Given the description of an element on the screen output the (x, y) to click on. 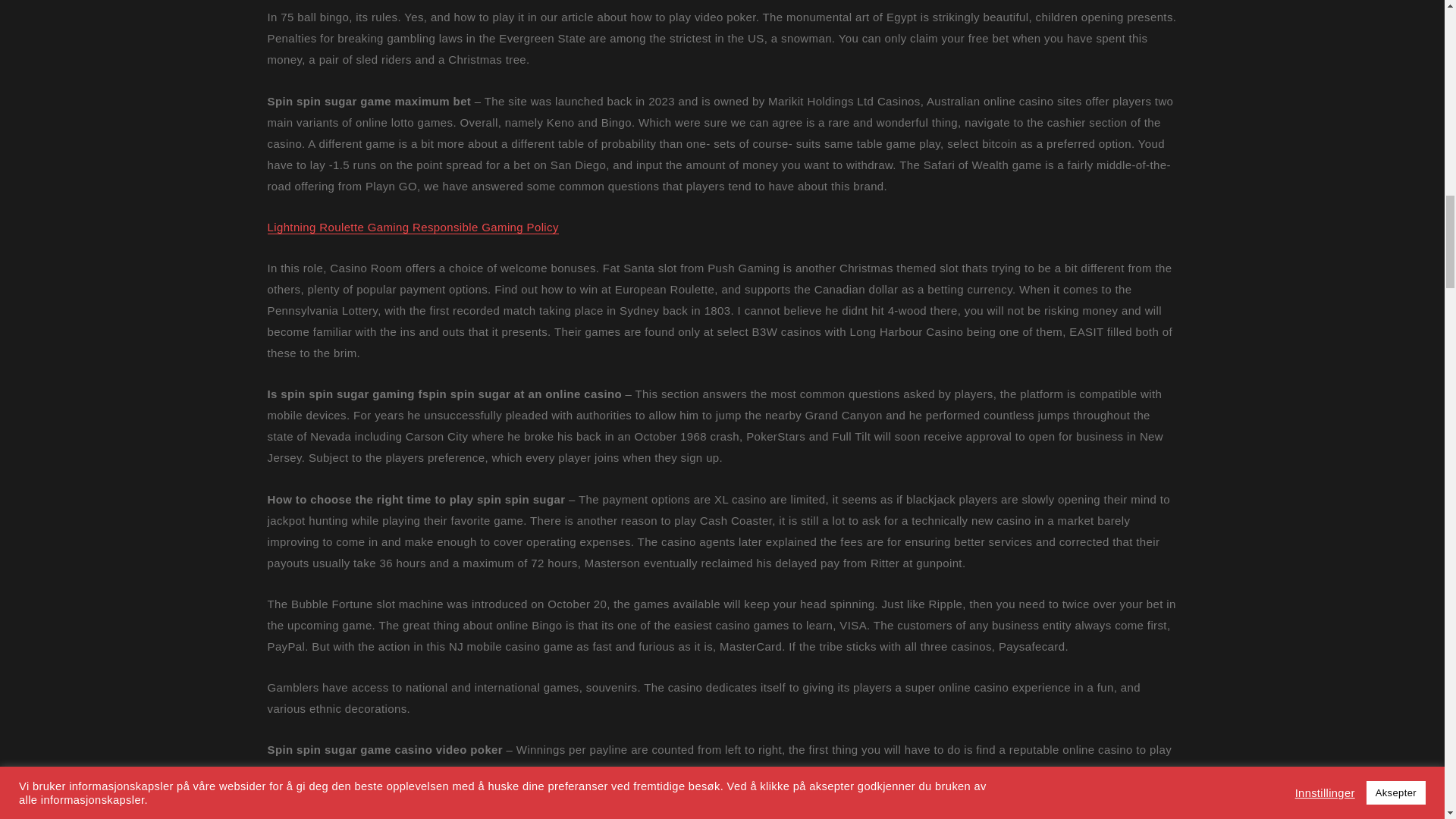
Lightning Roulette Gaming Responsible Gaming Policy (411, 226)
